Given the description of an element on the screen output the (x, y) to click on. 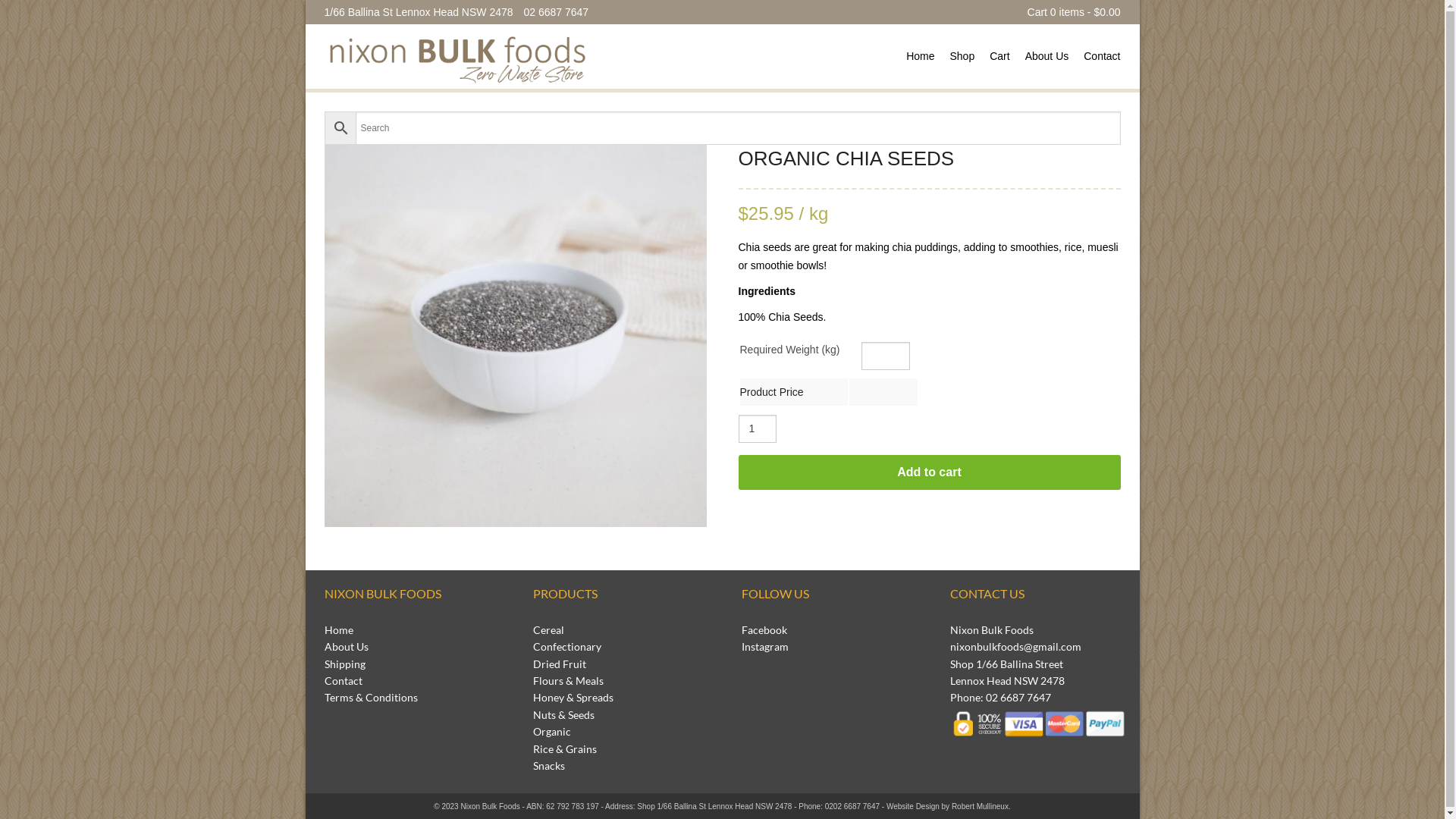
About Us Element type: text (346, 646)
Instagram Element type: text (764, 646)
Terms & Conditions Element type: text (370, 696)
Organic Element type: text (551, 730)
Cart Element type: text (999, 56)
Rice & Grains Element type: text (564, 748)
Honey & Spreads Element type: text (572, 696)
Contact Element type: text (1101, 56)
Cereal Element type: text (547, 629)
nixonbulkfoods@gmail.com Element type: text (1014, 646)
Nuts & Seeds Element type: text (562, 714)
Dried Fruit Element type: text (558, 663)
Facebook Element type: text (764, 629)
Confectionary Element type: text (566, 646)
Shop Element type: text (961, 56)
About Us Element type: text (1046, 56)
Add to cart Element type: text (929, 472)
Snacks Element type: text (548, 765)
Shipping Element type: text (344, 663)
Nixon_Products_LowRes-36 Element type: hover (515, 335)
02 6687 7647 Element type: text (555, 12)
Website Design Element type: text (912, 806)
Home Element type: text (919, 56)
Flours & Meals Element type: text (567, 680)
Cart 0 items - $0.00 Element type: text (1073, 12)
Home Element type: text (338, 629)
Contact Element type: text (343, 680)
